Given the description of an element on the screen output the (x, y) to click on. 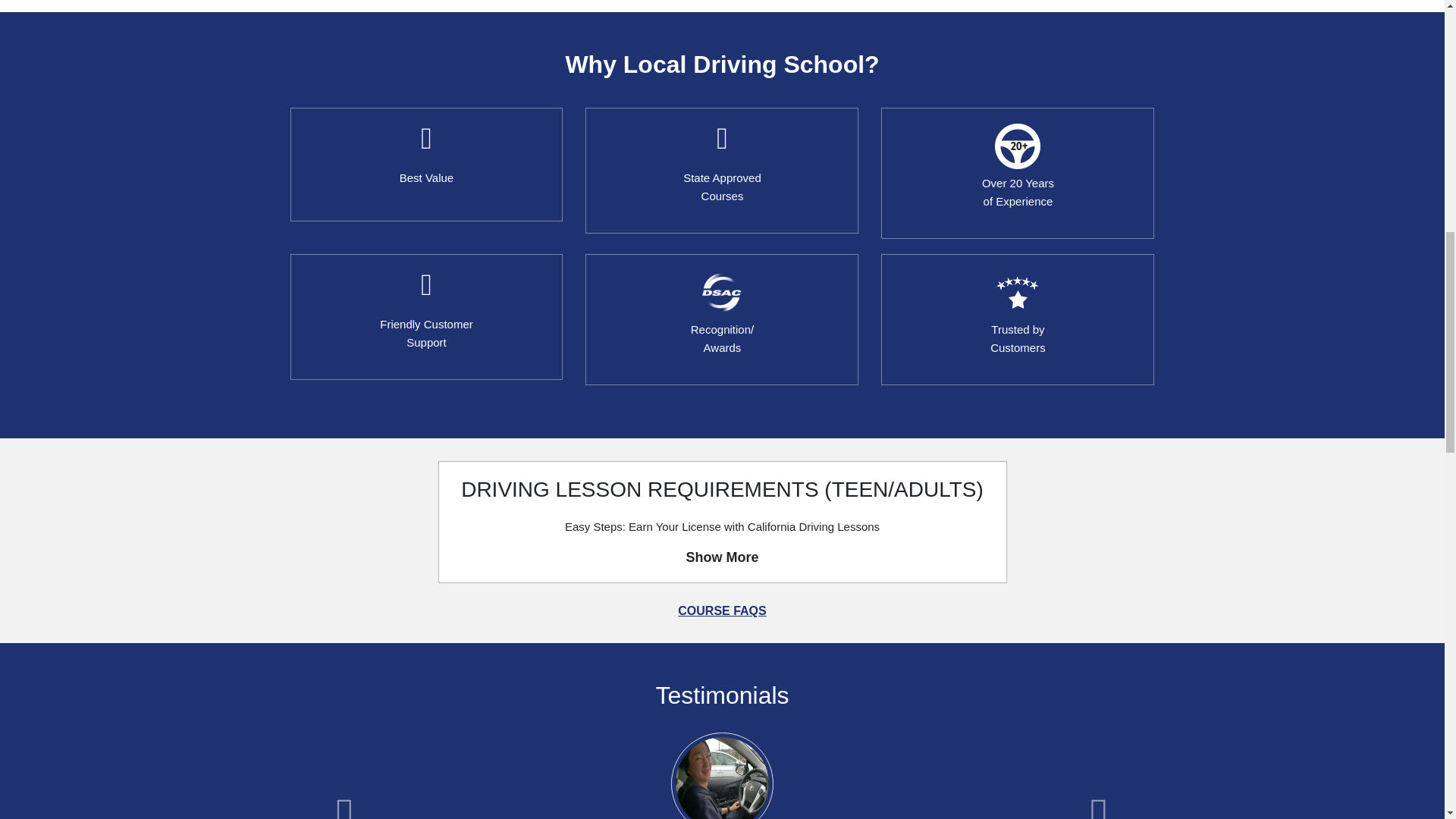
Best Value (1017, 173)
